Given the description of an element on the screen output the (x, y) to click on. 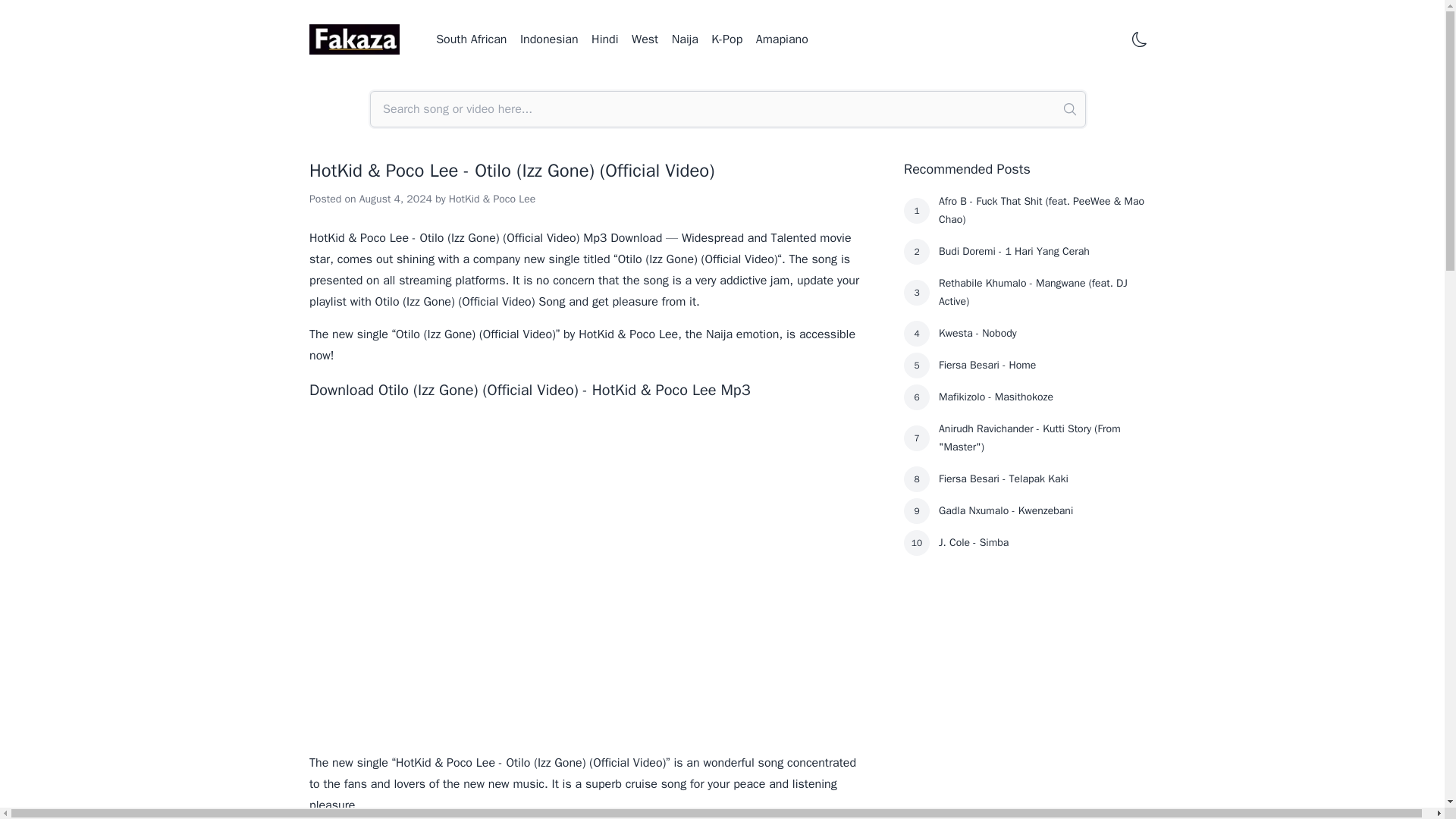
J. Cole - Simba (1043, 542)
Mafikizolo - Masithokoze (1043, 397)
Fiersa Besari - Telapak Kaki (1043, 479)
Gadla Nxumalo - Kwenzebani (1043, 511)
Hindi (604, 39)
Fiersa Besari - Home (1043, 365)
Fiersa Besari - Telapak Kaki (1043, 479)
Naija (684, 39)
West (644, 39)
K-Pop (726, 39)
Gadla Nxumalo - Kwenzebani (1043, 511)
Fiersa Besari - Home (1043, 365)
Kwesta - Nobody (1043, 333)
Budi Doremi - 1 Hari Yang Cerah (1043, 251)
Kwesta - Nobody (1043, 333)
